Given the description of an element on the screen output the (x, y) to click on. 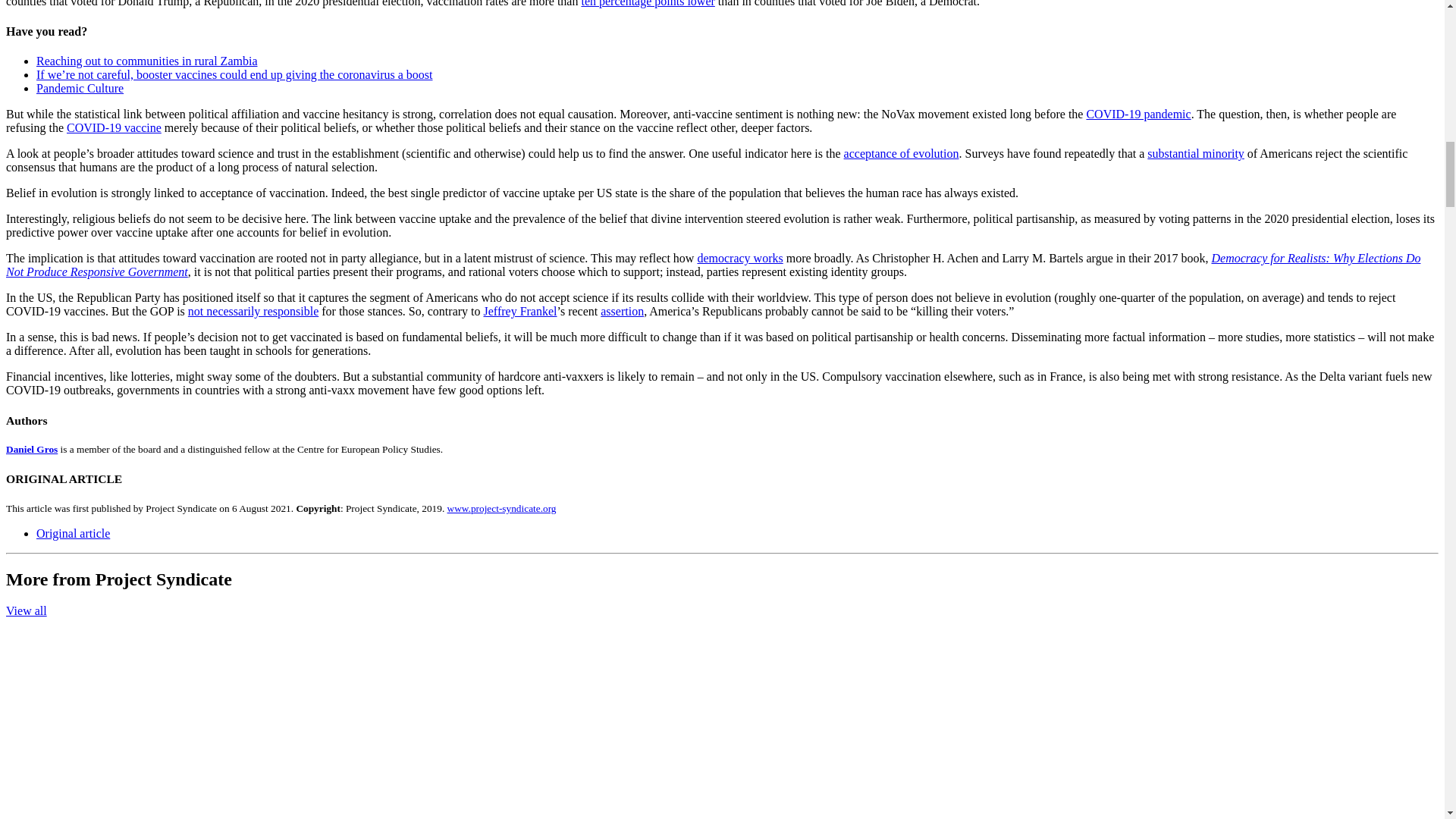
Responding to COVID-19 (1138, 113)
Pandemic Culture (79, 88)
COVID-19 vaccines: everything you need to know (113, 127)
Reaching out to communities in rural Zambia (146, 60)
